Given the description of an element on the screen output the (x, y) to click on. 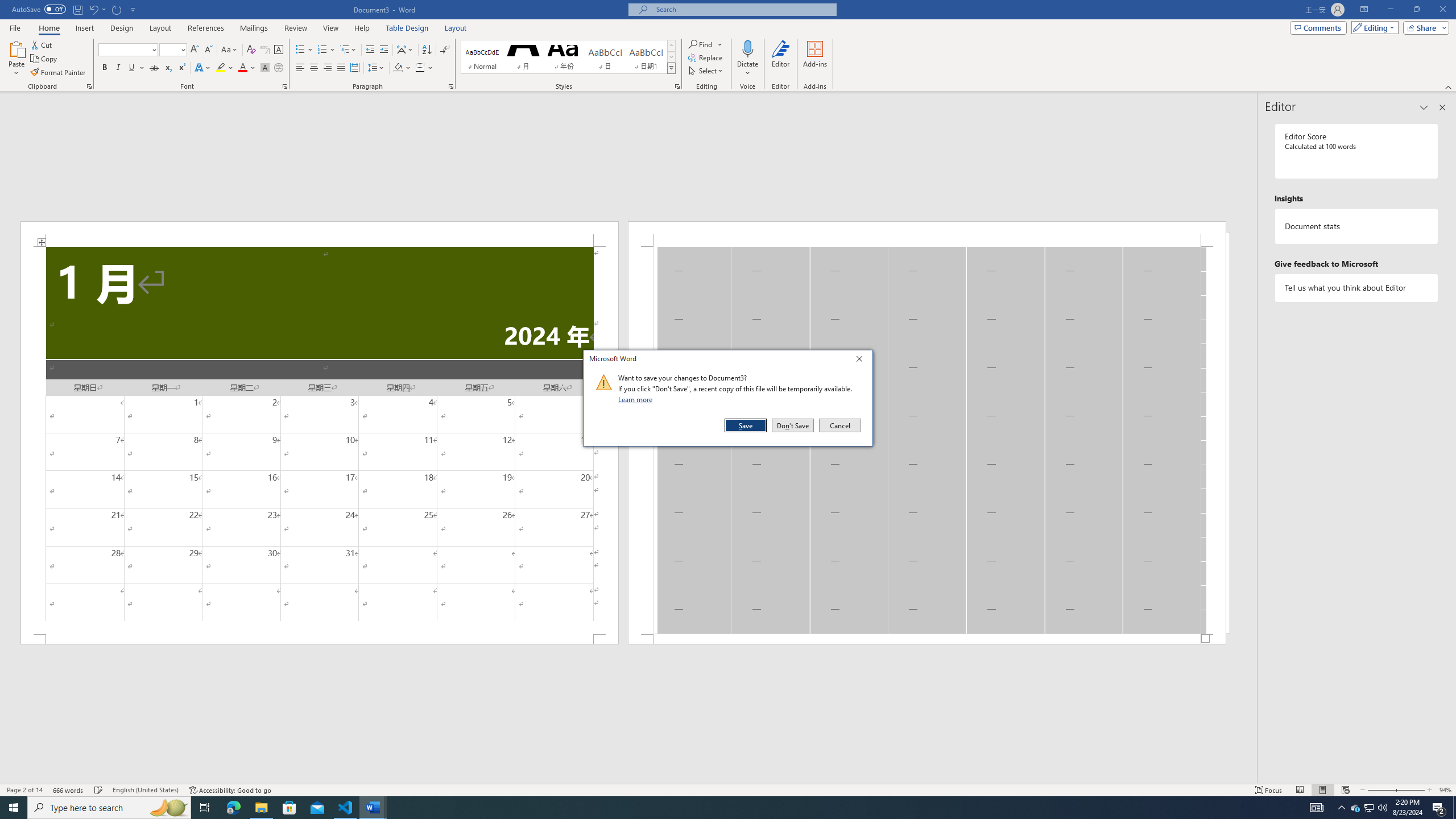
Don't Save (792, 425)
Learn more (636, 399)
